Given the description of an element on the screen output the (x, y) to click on. 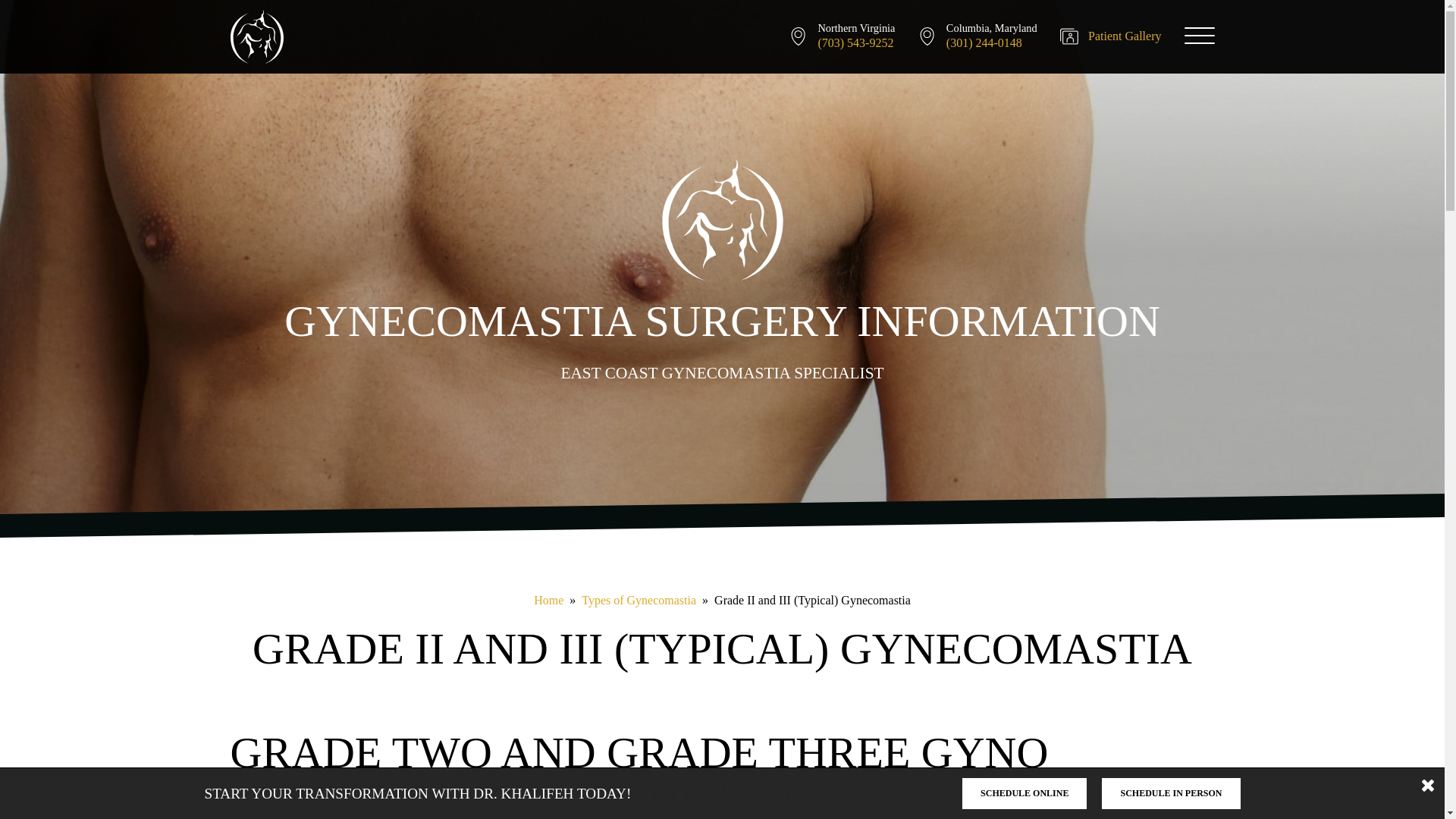
Types of Gynecomastia (637, 599)
Breadcrumb link to Types of Gynecomastia (637, 599)
SCHEDULE ONLINE (1024, 793)
Patient Gallery (1123, 36)
Breadcrumb link to Home (548, 599)
SCHEDULE IN PERSON (1171, 793)
Gynecomastia Surgeon (256, 36)
Home (548, 599)
